Given the description of an element on the screen output the (x, y) to click on. 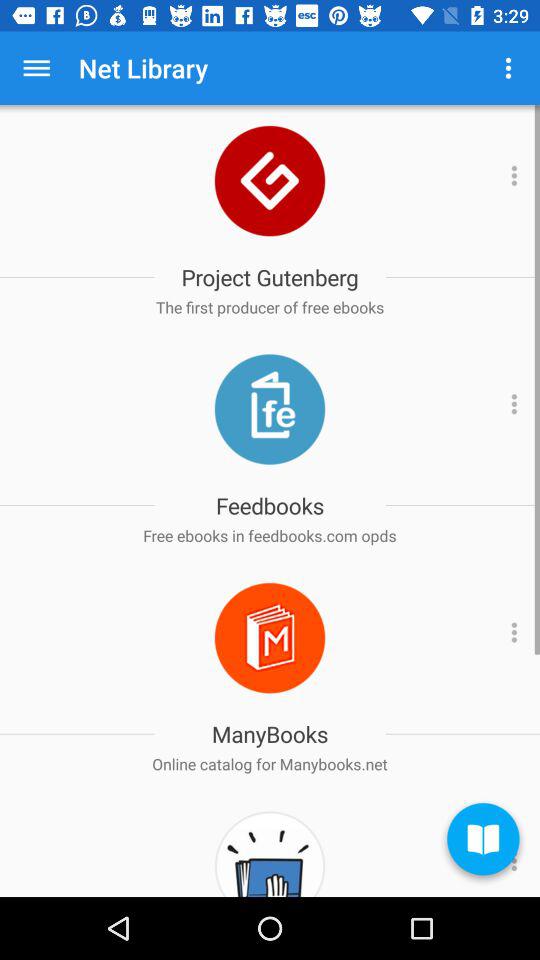
click the online catalog for (270, 763)
